Given the description of an element on the screen output the (x, y) to click on. 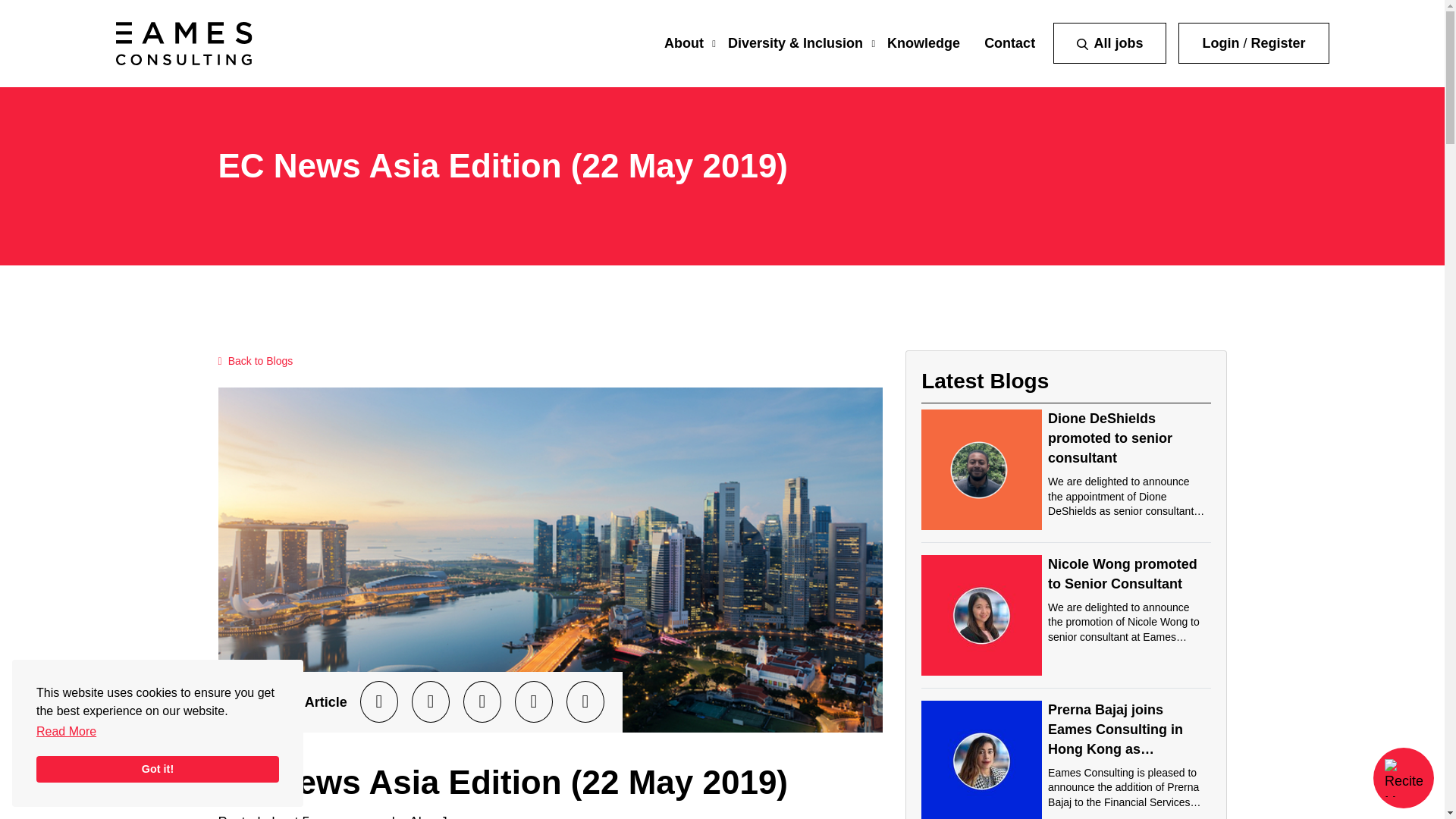
Nicole Wong promoted to Senior Consultant (1122, 573)
Knowledge (922, 43)
About (683, 43)
Back to Blogs (256, 361)
Login (1220, 43)
Contact (1009, 43)
Got it! (157, 768)
Launch Recite Me (1403, 777)
Dione DeShields promoted to senior consultant (1110, 438)
Read More (66, 731)
Register (1277, 43)
search (1082, 43)
Launch Recite Me (1403, 777)
search All jobs (1109, 42)
